Given the description of an element on the screen output the (x, y) to click on. 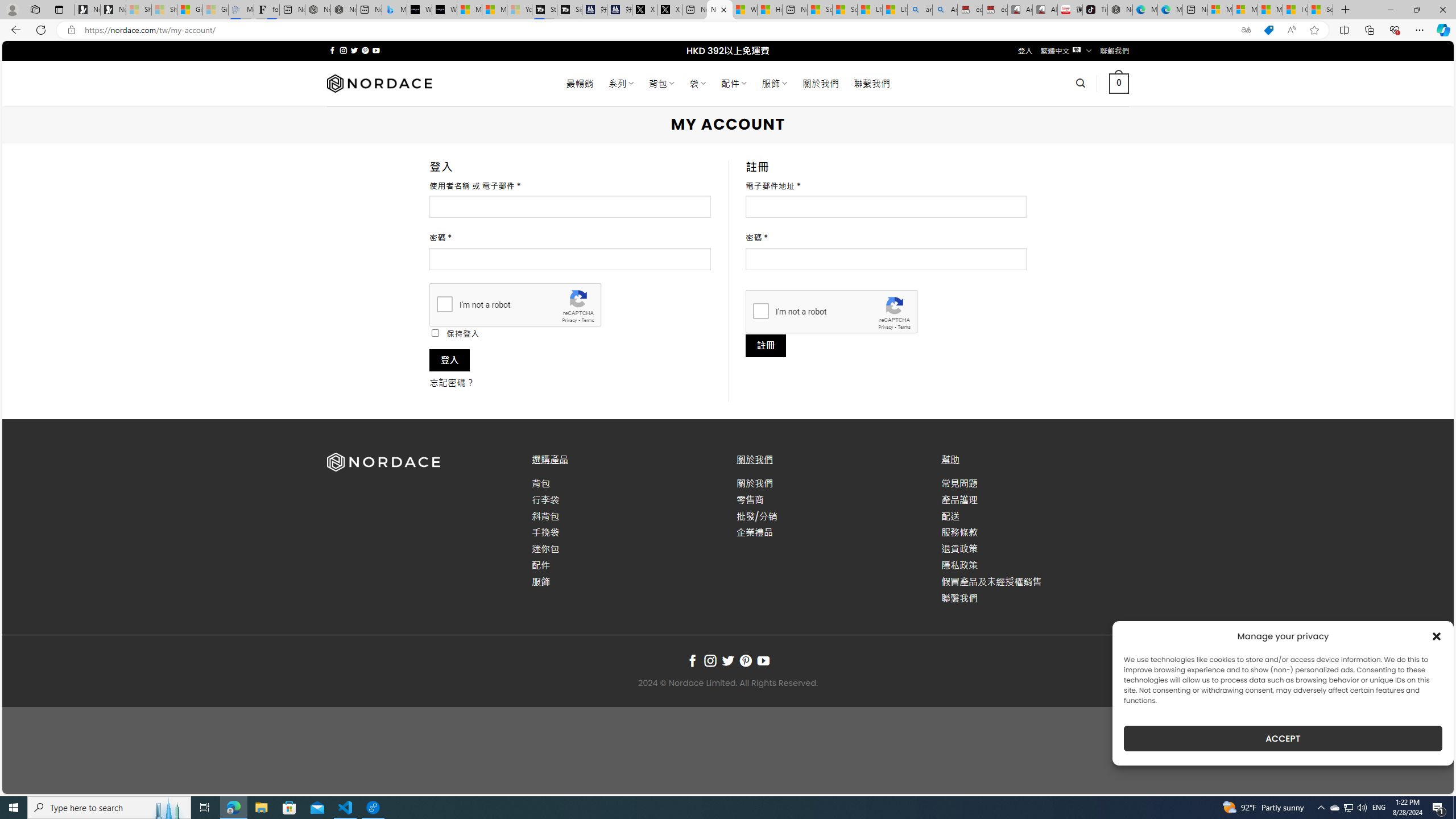
Huge shark washes ashore at New York City beach | Watch (769, 9)
Follow on Facebook (691, 660)
Newsletter Sign Up (113, 9)
